Given the description of an element on the screen output the (x, y) to click on. 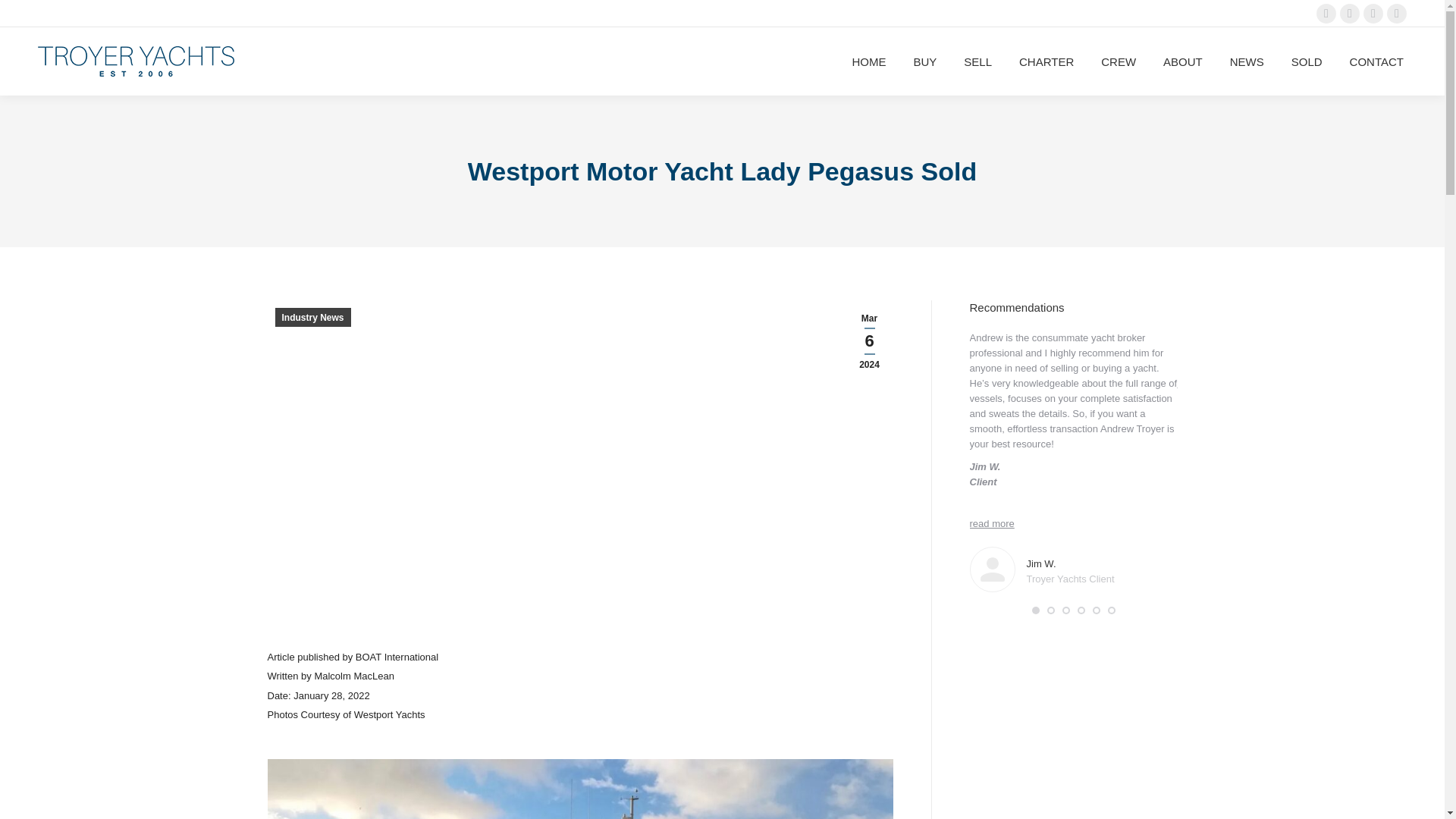
ABOUT (1182, 60)
SOLD (1306, 60)
CREW (1117, 60)
NEWS (1246, 60)
Facebook page opens in new window (1396, 13)
HOME (868, 60)
Twitter page opens in new window (1372, 13)
CONTACT (1376, 60)
CHARTER (1046, 60)
Instagram page opens in new window (1349, 13)
